Given the description of an element on the screen output the (x, y) to click on. 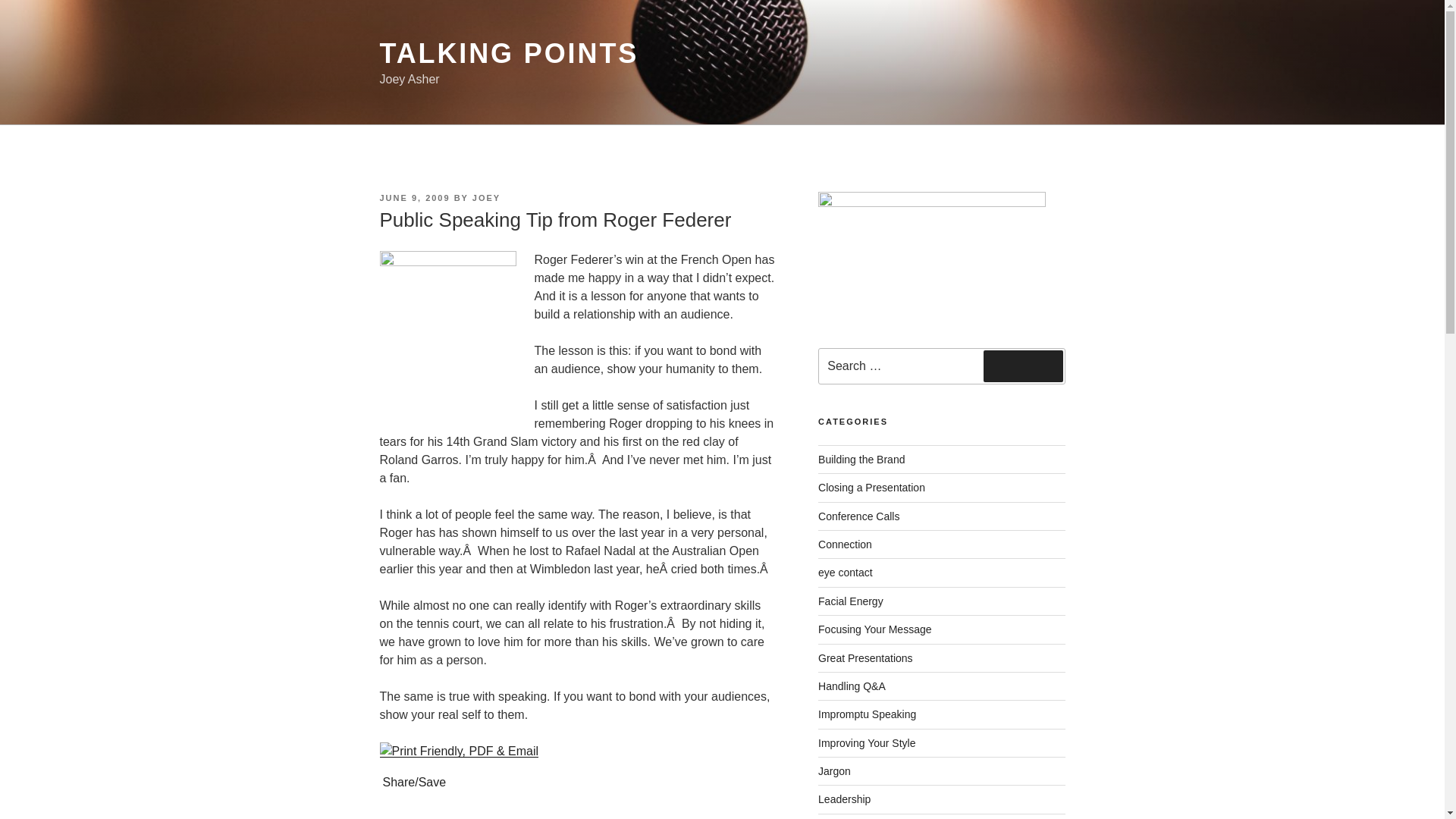
Facial Energy (850, 601)
Building the Brand (861, 459)
TALKING POINTS (508, 52)
Improving Your Style (866, 743)
Connection (845, 544)
Search (1023, 366)
JUNE 9, 2009 (413, 197)
Focusing Your Message (874, 629)
JOEY (485, 197)
Great Presentations (865, 657)
